Given the description of an element on the screen output the (x, y) to click on. 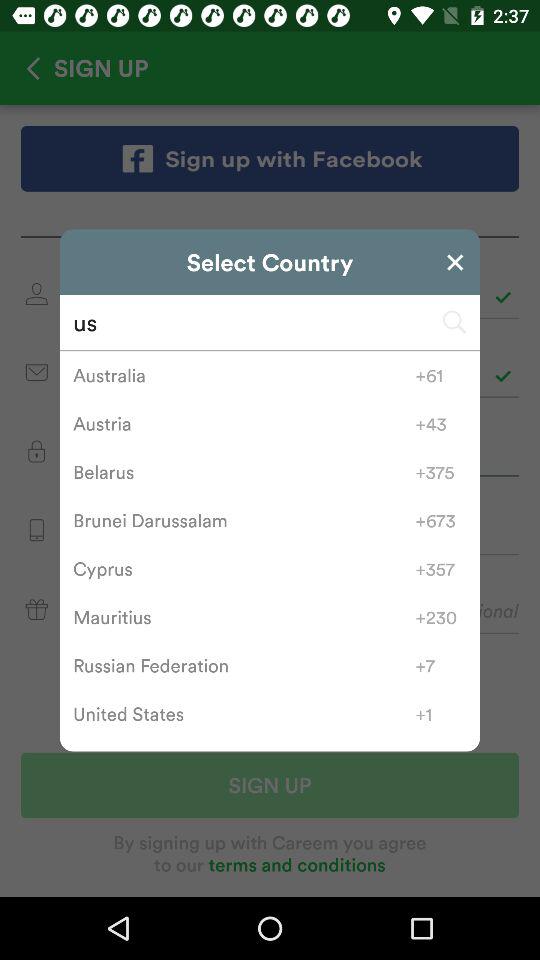
exit from screen (455, 262)
